Given the description of an element on the screen output the (x, y) to click on. 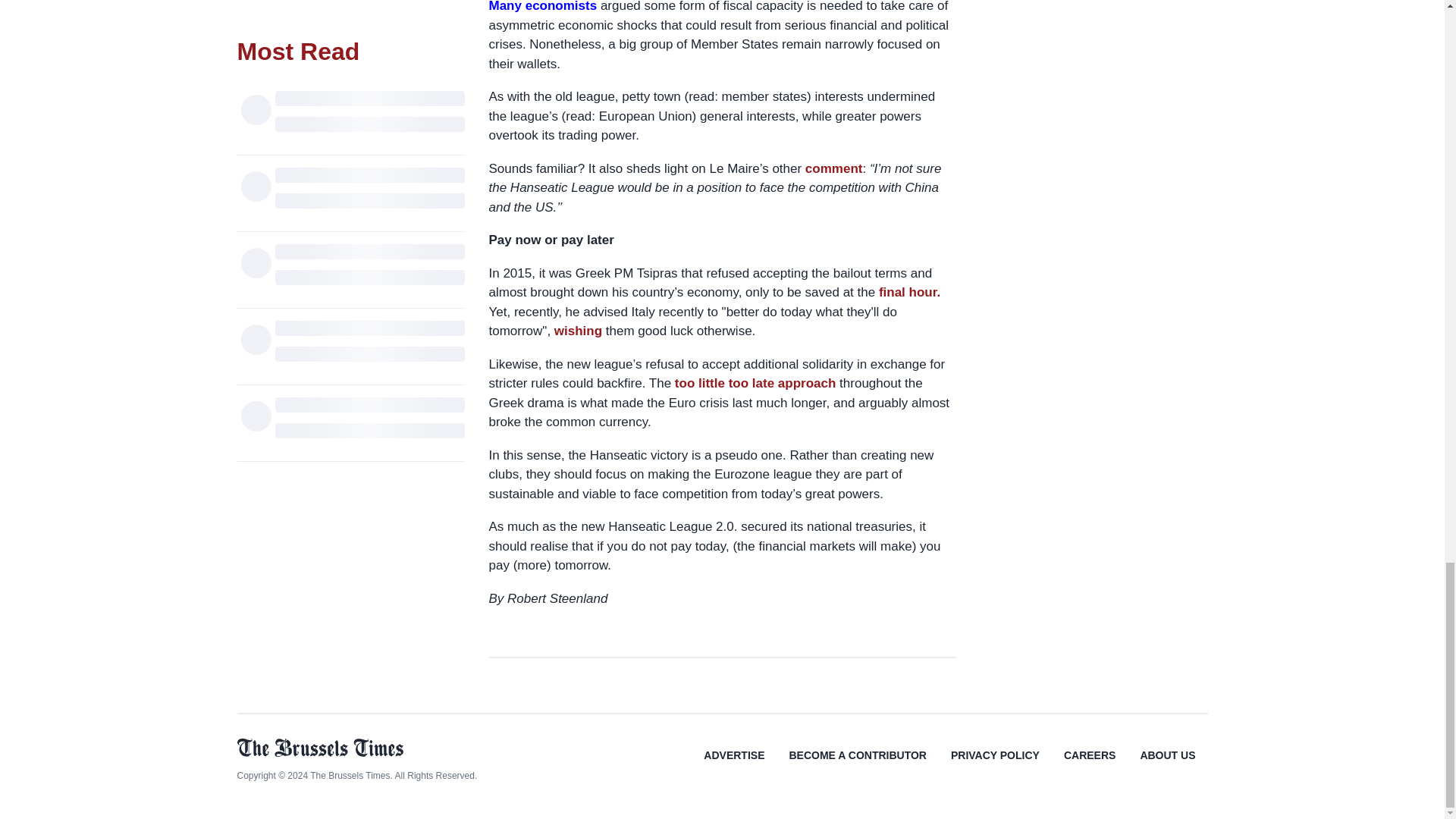
wishing (578, 330)
CAREERS (1088, 766)
comment (834, 168)
too little too late approach (755, 382)
ABOUT US (1166, 766)
Many economists (541, 6)
ADVERTISE (733, 766)
PRIVACY POLICY (995, 766)
BECOME A CONTRIBUTOR (856, 766)
final hour. (909, 292)
